Given the description of an element on the screen output the (x, y) to click on. 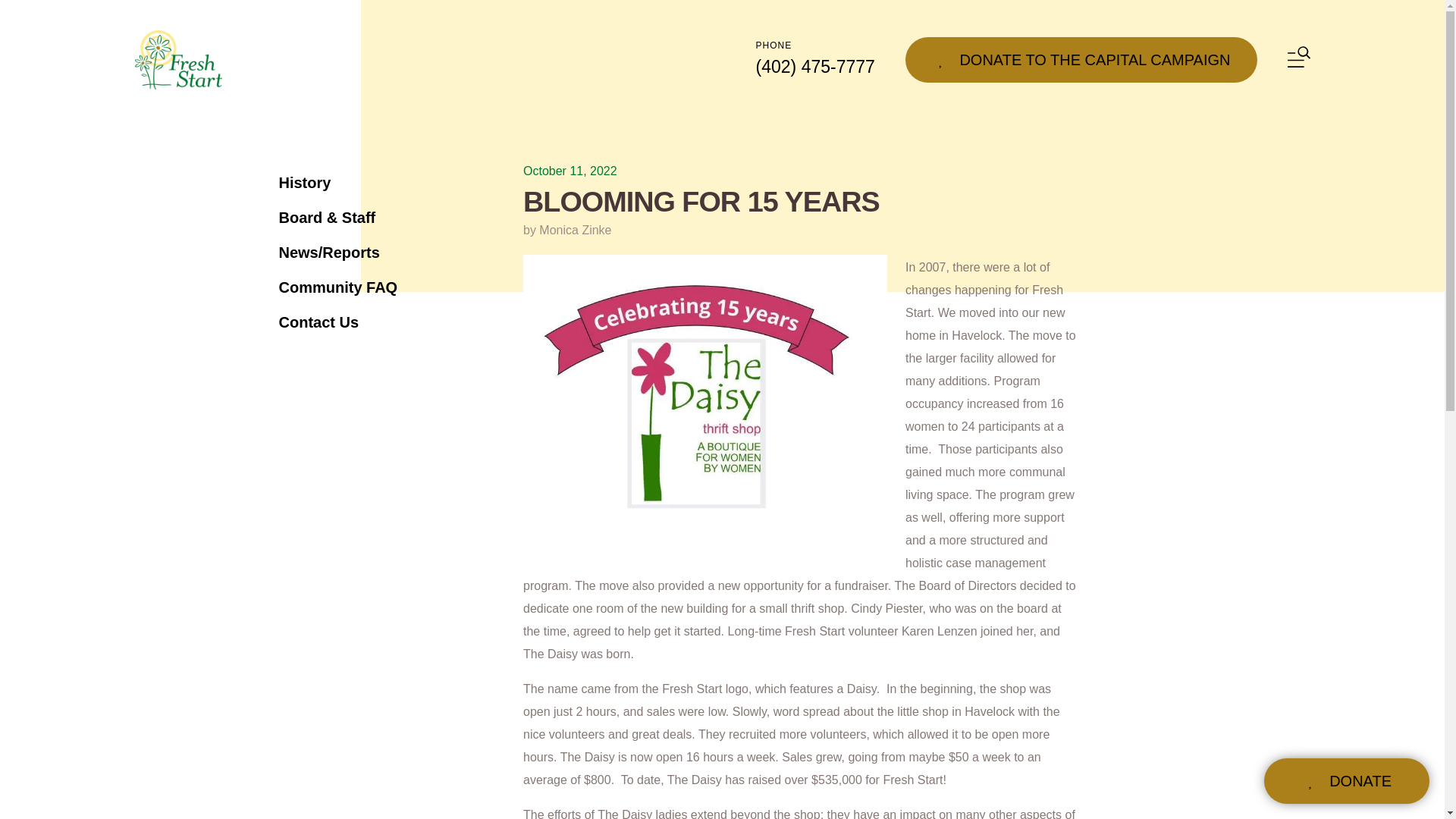
Community FAQ (382, 287)
History (382, 182)
Contact Us (382, 321)
DONATE (1346, 780)
logo (178, 59)
DONATE TO THE CAPITAL CAMPAIGN (1081, 59)
